Given the description of an element on the screen output the (x, y) to click on. 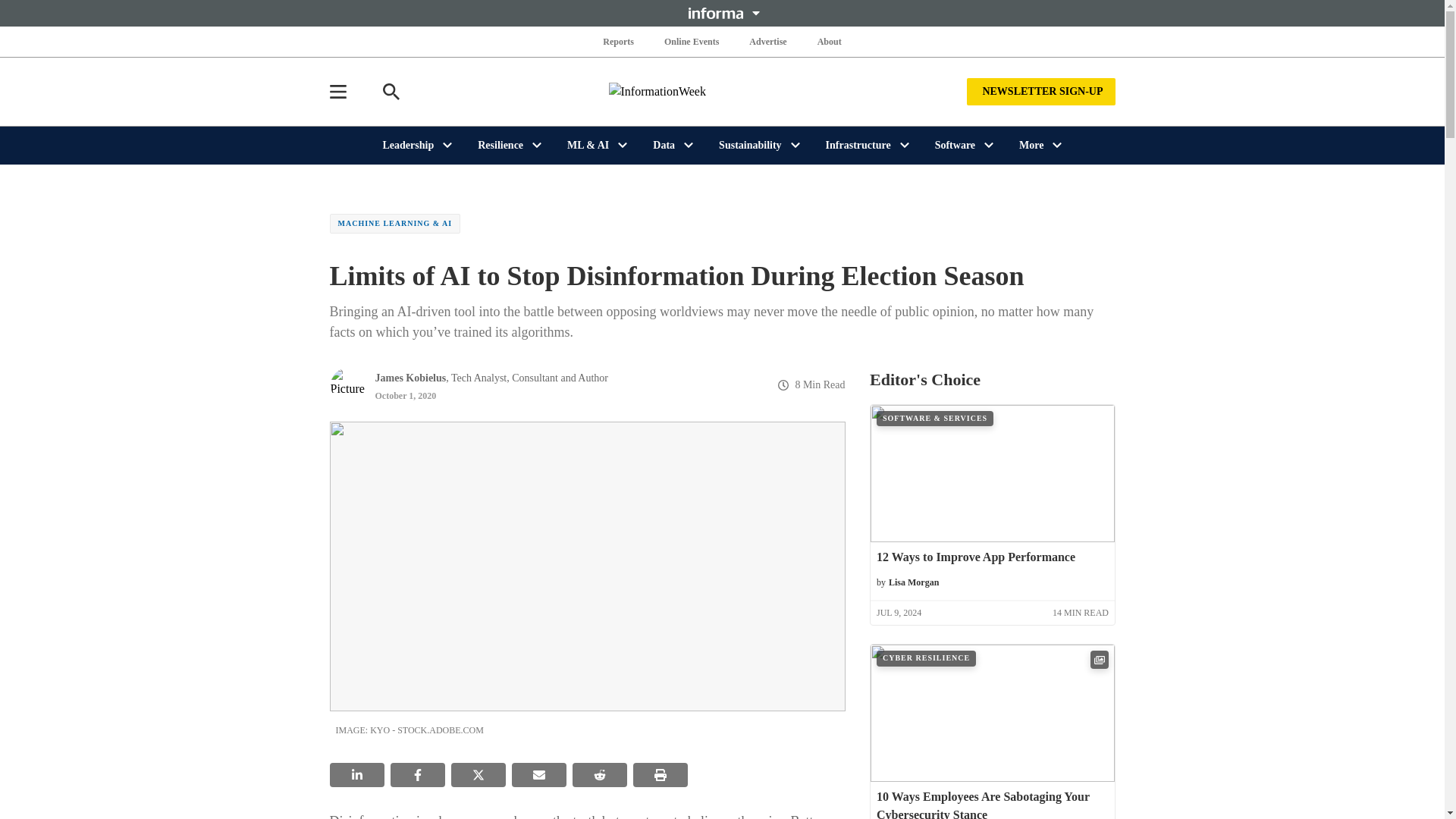
InformationWeek (721, 91)
NEWSLETTER SIGN-UP (1040, 90)
Reports (618, 41)
Advertise (767, 41)
Picture of James Kobielus (347, 384)
Online Events (691, 41)
About (828, 41)
